Given the description of an element on the screen output the (x, y) to click on. 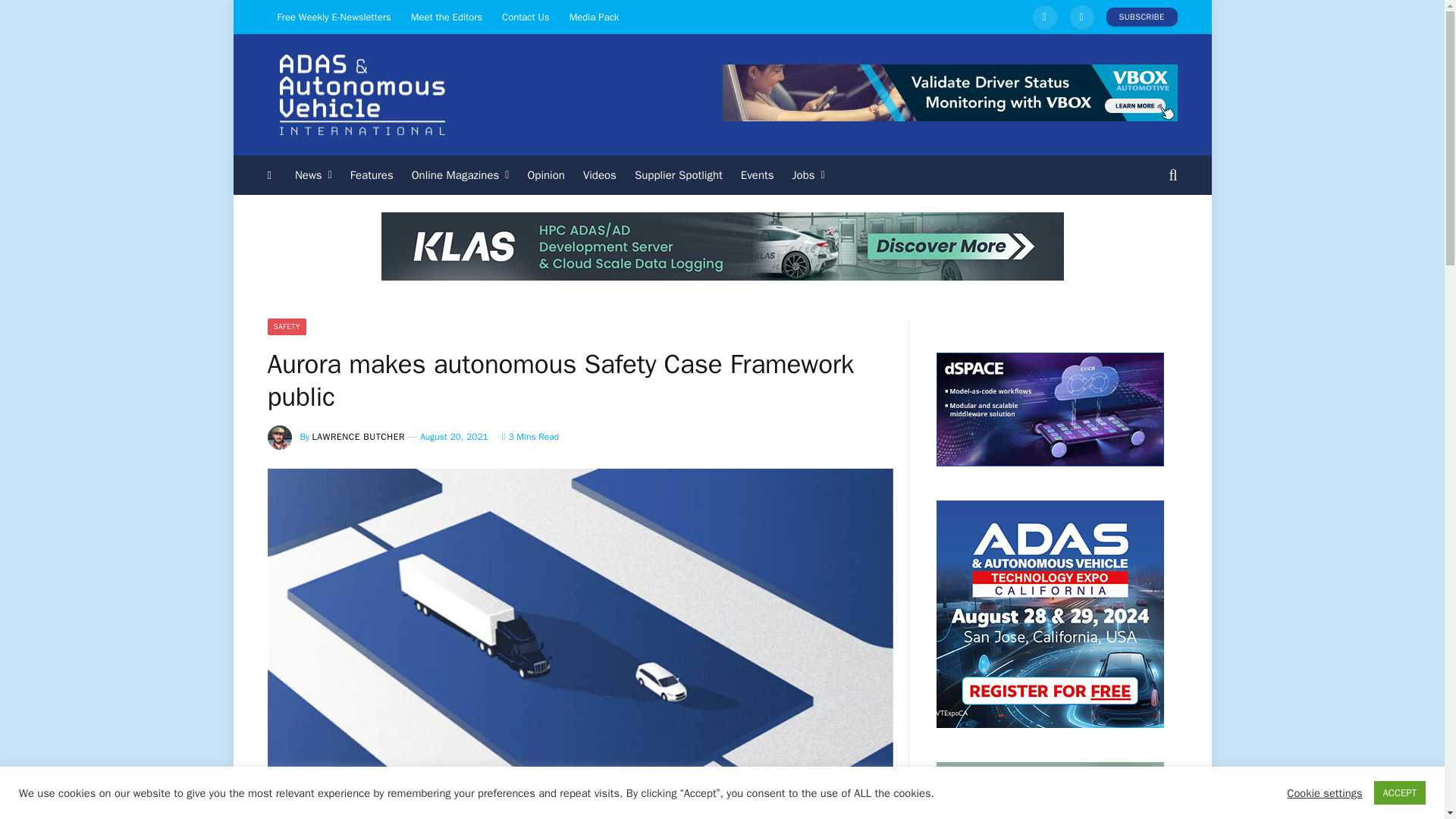
Posts by Lawrence Butcher (359, 436)
